Given the description of an element on the screen output the (x, y) to click on. 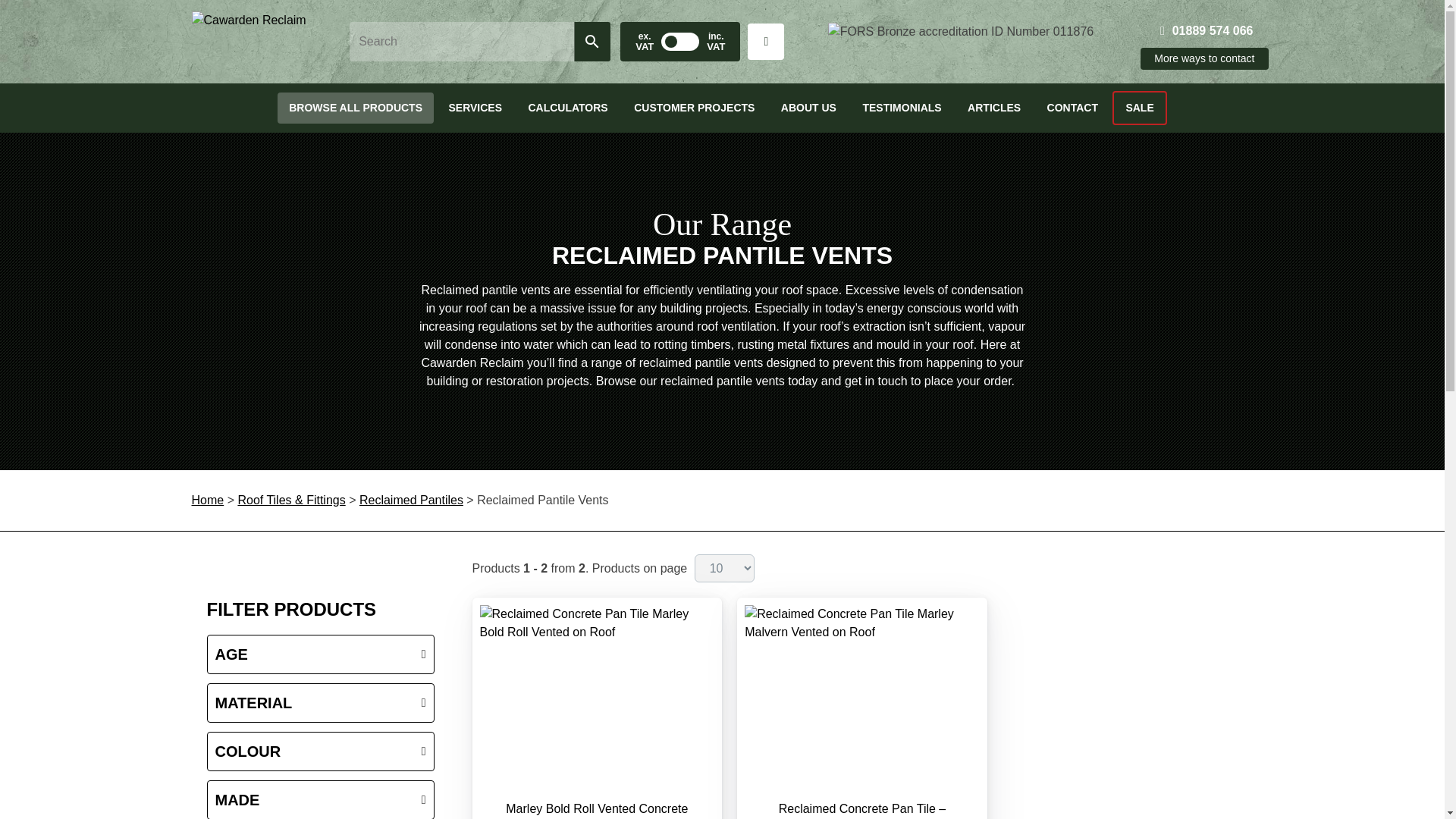
More ways to contact (1204, 57)
01889 574 066 (1206, 29)
Home (247, 41)
BROWSE ALL PRODUCTS (355, 107)
View My Basket (766, 41)
